Given the description of an element on the screen output the (x, y) to click on. 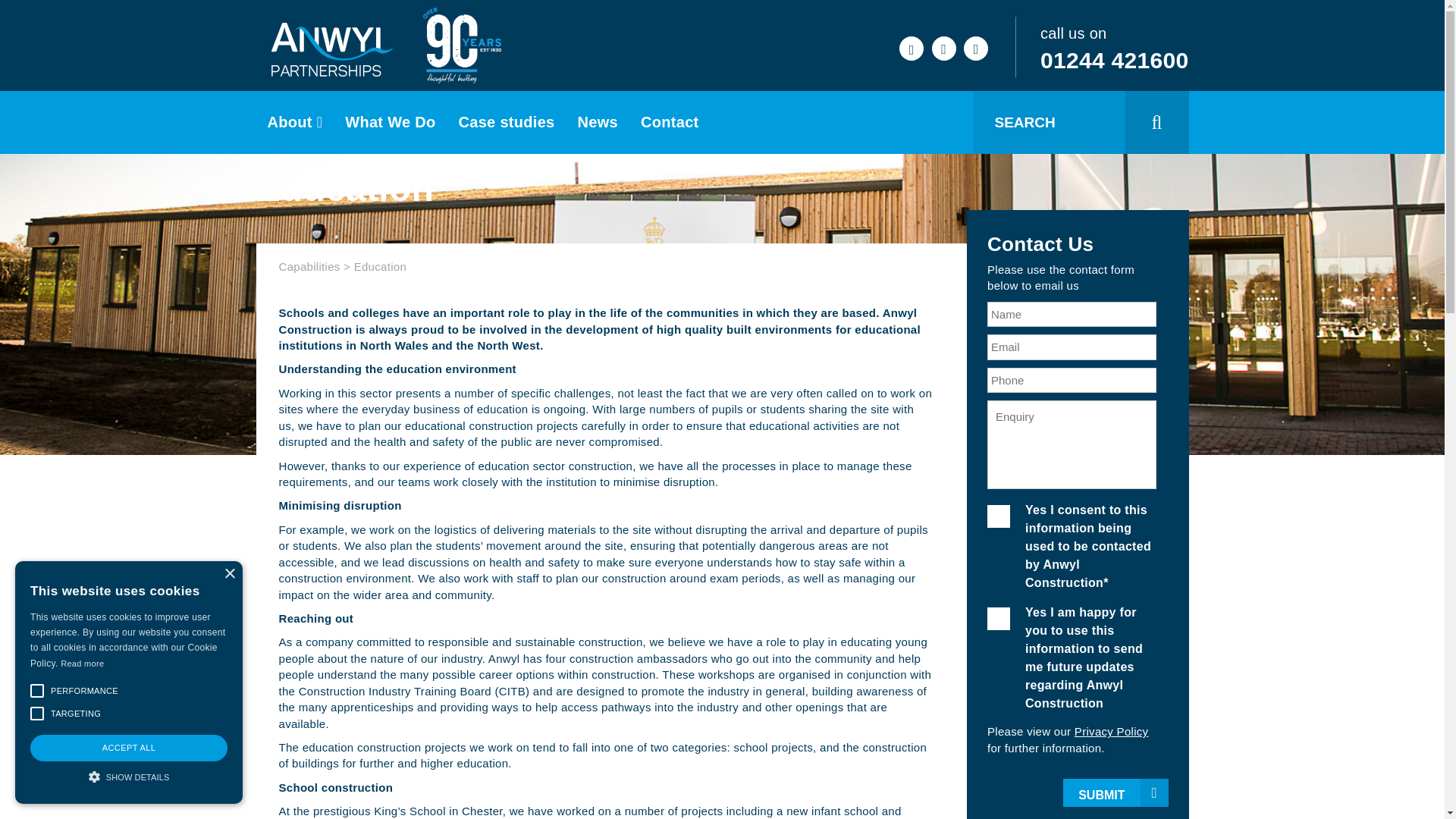
Contact (669, 121)
About (295, 121)
01244 421600 (1114, 59)
SUBMIT (1114, 792)
What We Do (389, 121)
Privacy Policy (1111, 730)
News (597, 121)
Go to Capabilities. (309, 266)
Case studies (506, 121)
Capabilities (309, 266)
